Given the description of an element on the screen output the (x, y) to click on. 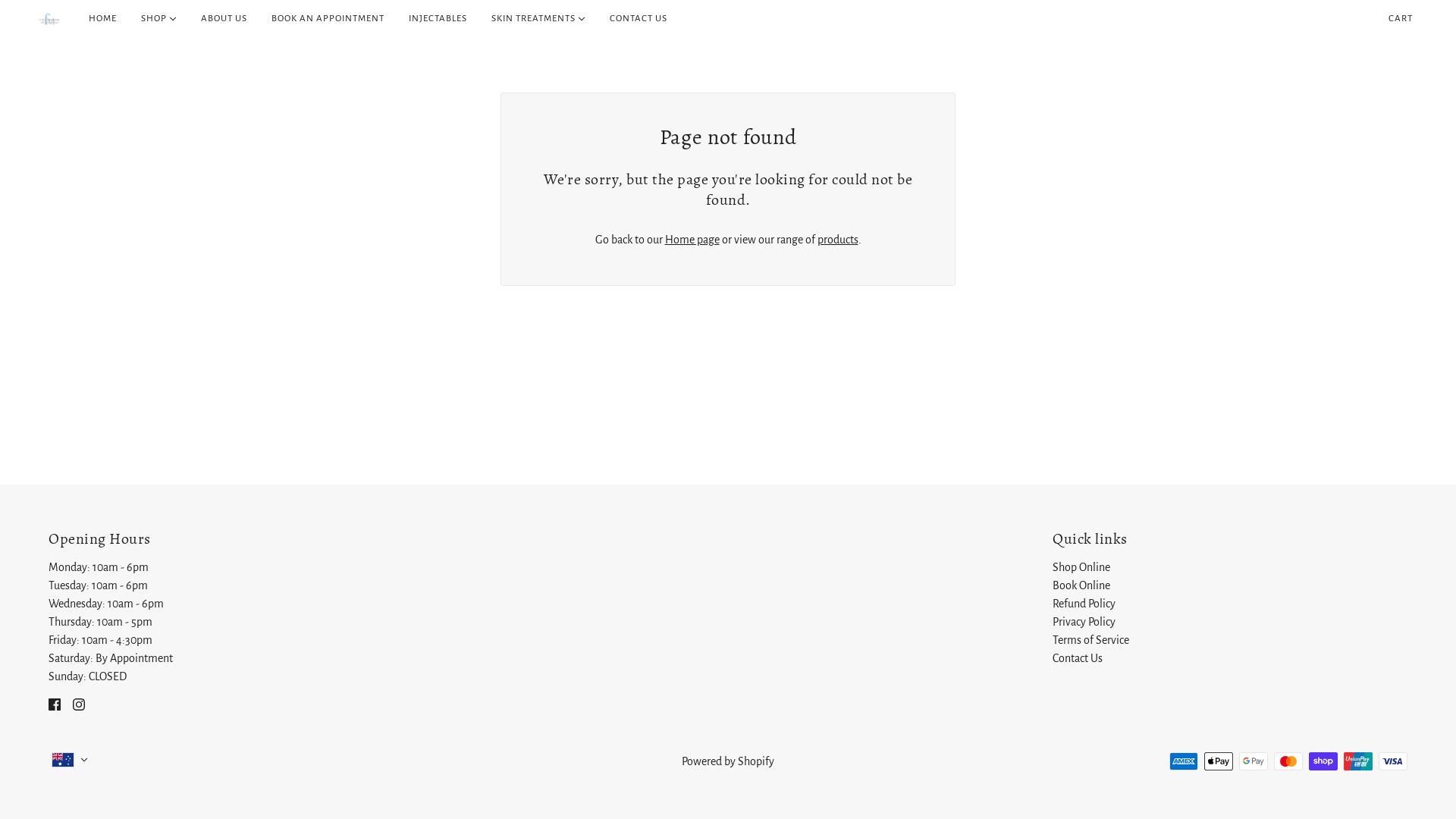
CONTACT US Element type: text (638, 18)
Powered by Shopify Element type: text (727, 761)
Home page Element type: text (691, 239)
HOME Element type: text (102, 18)
products Element type: text (837, 239)
Refund Policy Element type: text (1083, 603)
CART  Element type: text (1401, 18)
ABOUT US Element type: text (223, 18)
Terms of Service Element type: text (1090, 639)
Shop Online Element type: text (1081, 567)
Dr Fiona Milne Element type: hover (49, 18)
BOOK AN APPOINTMENT Element type: text (327, 18)
Book Online Element type: text (1081, 585)
Contact Us Element type: text (1077, 658)
INJECTABLES Element type: text (437, 18)
Privacy Policy Element type: text (1083, 621)
SHOP  Element type: text (158, 18)
SKIN TREATMENTS  Element type: text (538, 18)
